Given the description of an element on the screen output the (x, y) to click on. 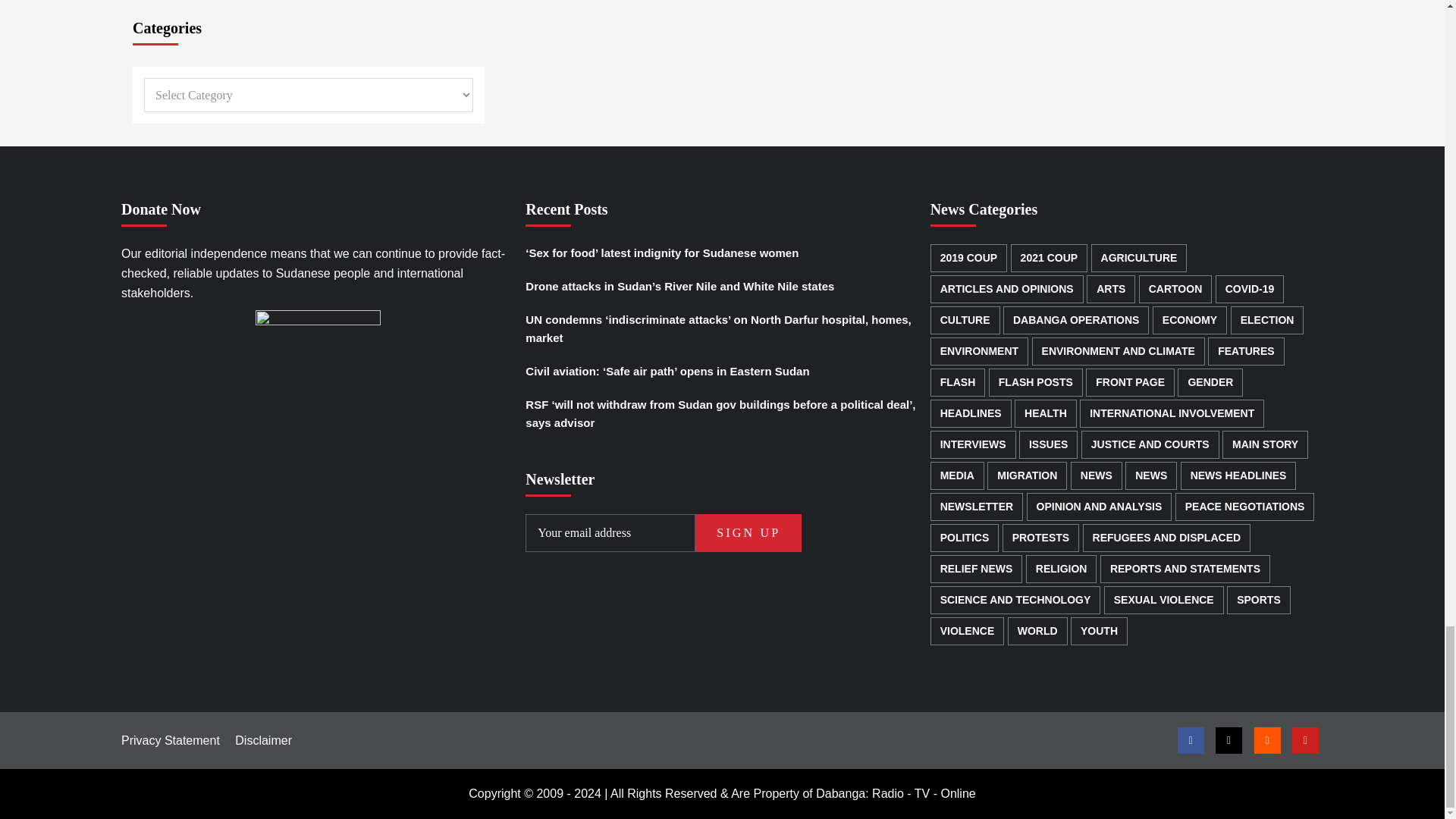
Sign up (748, 533)
